Given the description of an element on the screen output the (x, y) to click on. 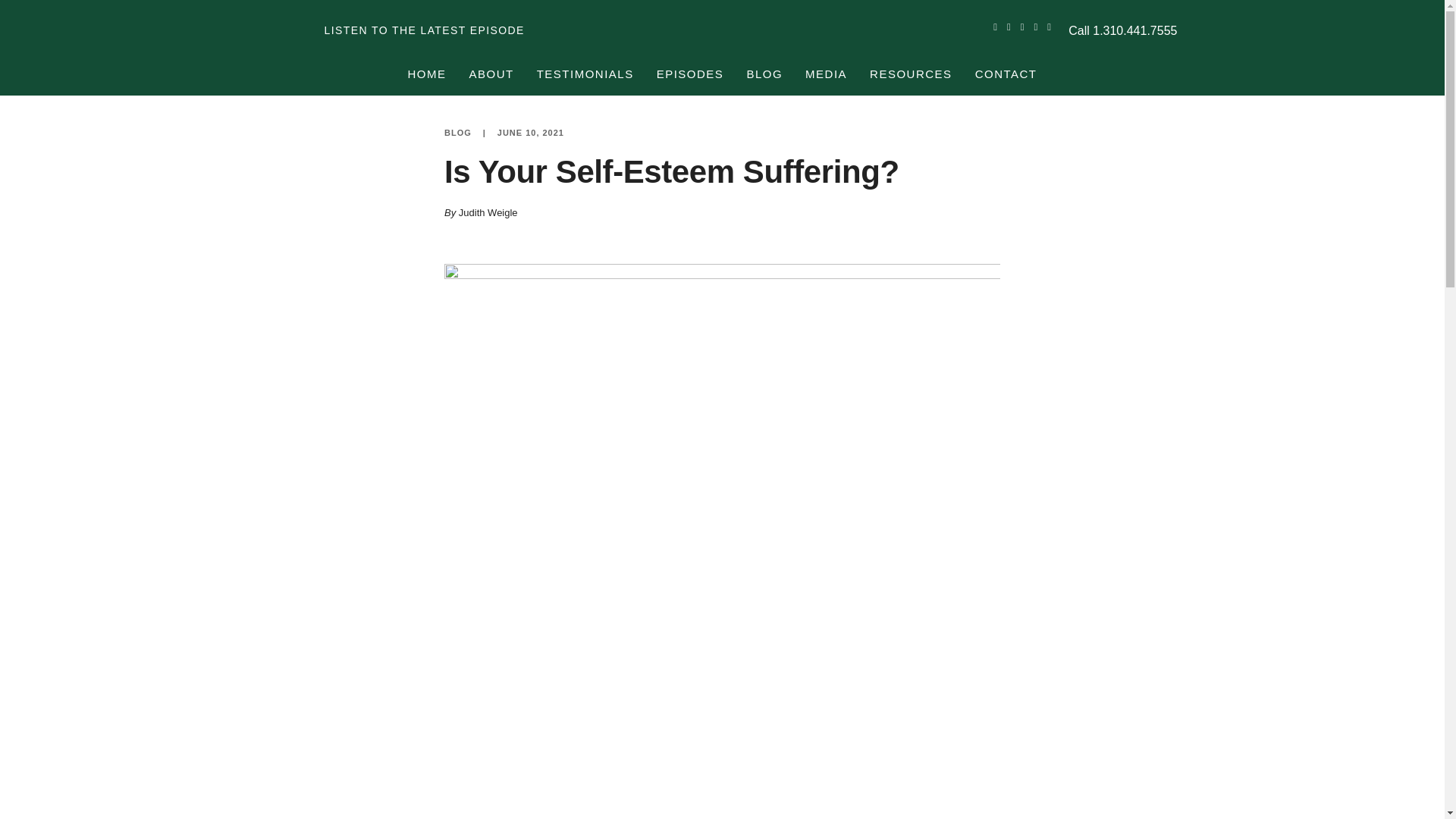
EPISODES (690, 74)
Blog (457, 132)
MEDIA (826, 74)
HOME (432, 74)
BLOG (457, 132)
BLOG (764, 74)
ABOUT (490, 74)
CONTACT (999, 74)
RESOURCES (911, 74)
TESTIMONIALS (585, 74)
Judith Weigle (488, 212)
